Given the description of an element on the screen output the (x, y) to click on. 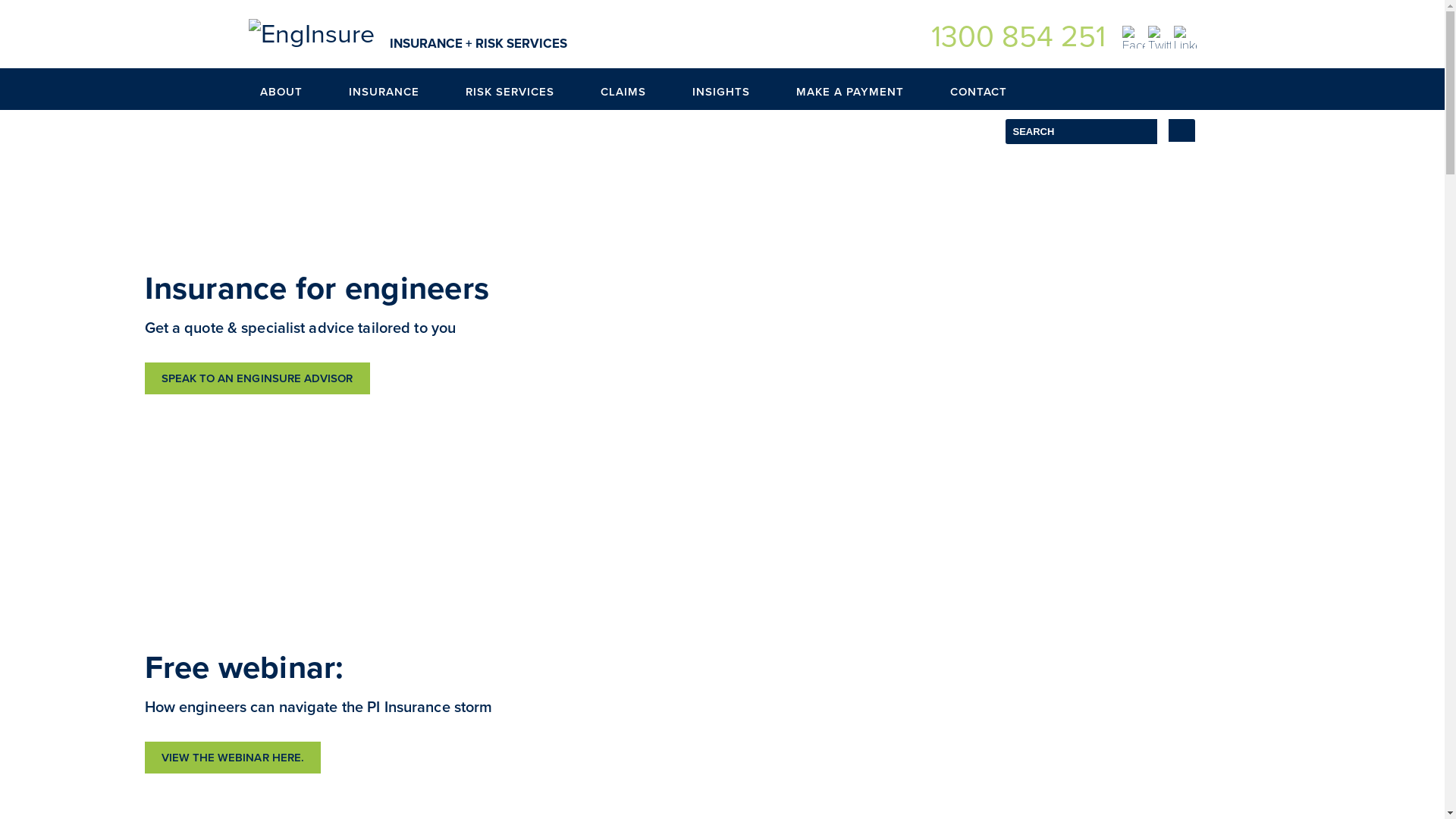
MAKE A PAYMENT Element type: text (861, 88)
1300 854 251 Element type: text (1018, 36)
EngInsure Element type: hover (311, 34)
RISK SERVICES Element type: text (520, 88)
INSIGHTS Element type: text (732, 88)
CONTACT Element type: text (989, 88)
INSURANCE Element type: text (394, 88)
VIEW THE WEBINAR HERE. Element type: text (232, 757)
CLAIMS Element type: text (634, 88)
ABOUT Element type: text (292, 88)
SPEAK TO AN ENGINSURE ADVISOR Element type: text (256, 378)
